Given the description of an element on the screen output the (x, y) to click on. 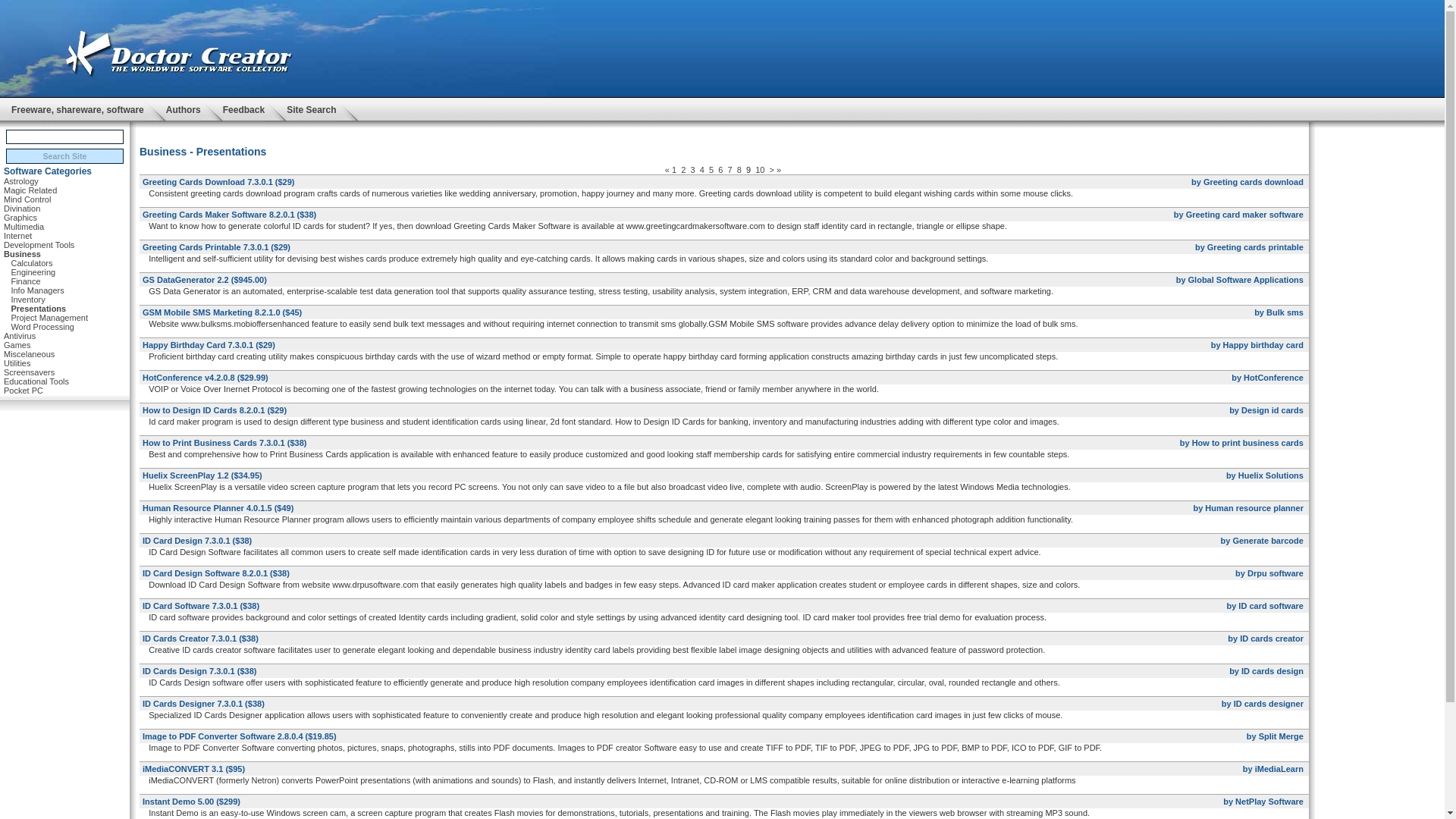
Magic Related (30, 189)
Word Processing (42, 326)
Freeware, shareware, software (77, 109)
Search Site (64, 155)
Screensavers (29, 372)
Project Management (48, 317)
Authors (182, 109)
Finance (25, 280)
Development Tools (39, 244)
Divination (22, 208)
Miscelaneous (29, 353)
Mind Control (27, 199)
Antivirus (19, 335)
Games (17, 344)
Business (22, 253)
